Given the description of an element on the screen output the (x, y) to click on. 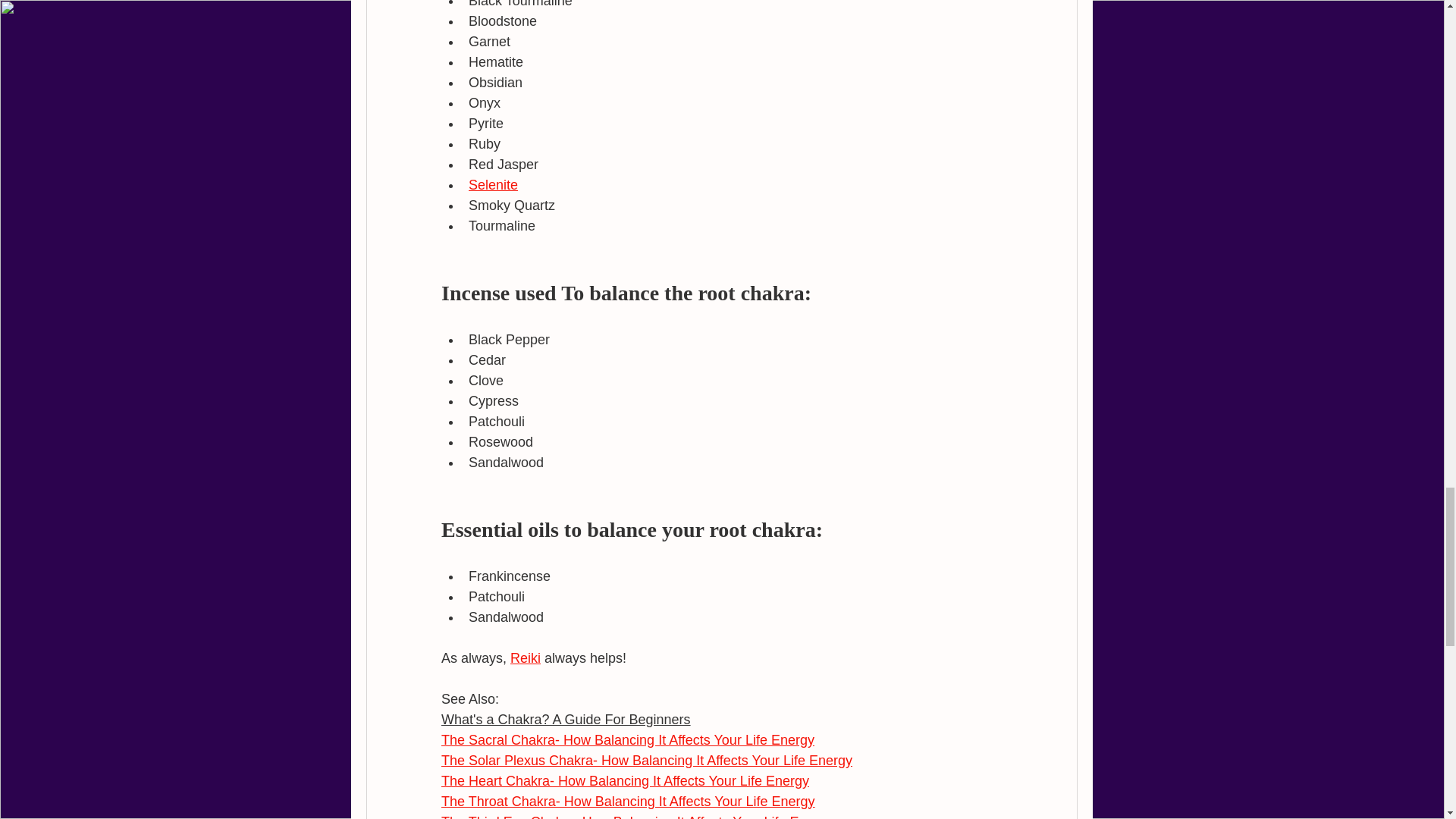
What's a Chakra? A Guide For Beginners (565, 719)
The Heart Chakra- How Balancing It Affects Your Life Energy (625, 780)
Reiki (525, 657)
The Throat Chakra- How Balancing It Affects Your Life Energy (628, 801)
Selenite (493, 184)
The Sacral Chakra- How Balancing It Affects Your Life Energy (627, 739)
